Given the description of an element on the screen output the (x, y) to click on. 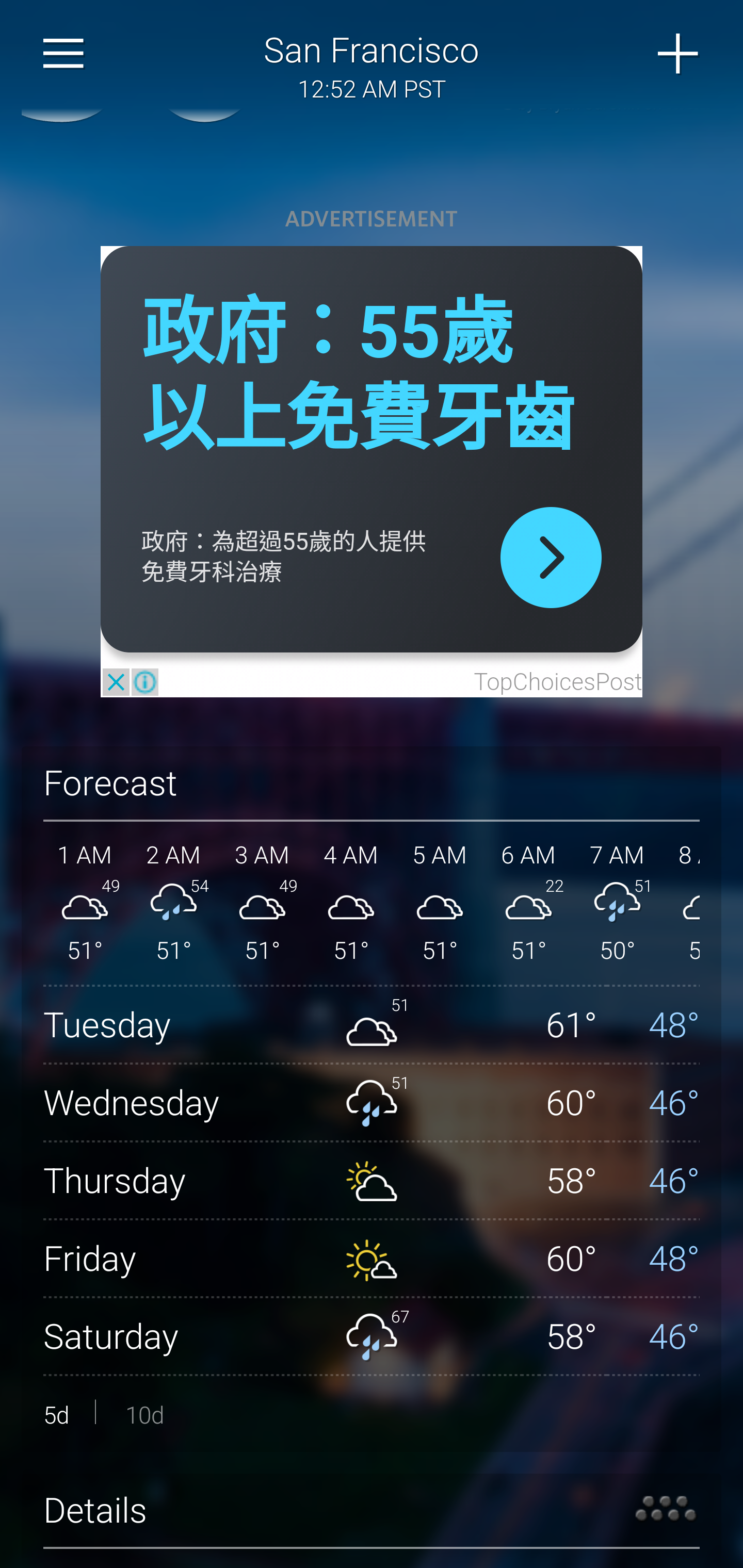
Sidebar (64, 54)
Add City (678, 53)
政府：55歲 以上免費牙齒 政府：55歲 
 以上免費牙齒 (357, 377)
政府：為超過55歲的人提供 免費牙科治療 政府：為超過55歲的人提供 
 免費牙科治療 (283, 557)
TopChoicesPost (557, 682)
